Given the description of an element on the screen output the (x, y) to click on. 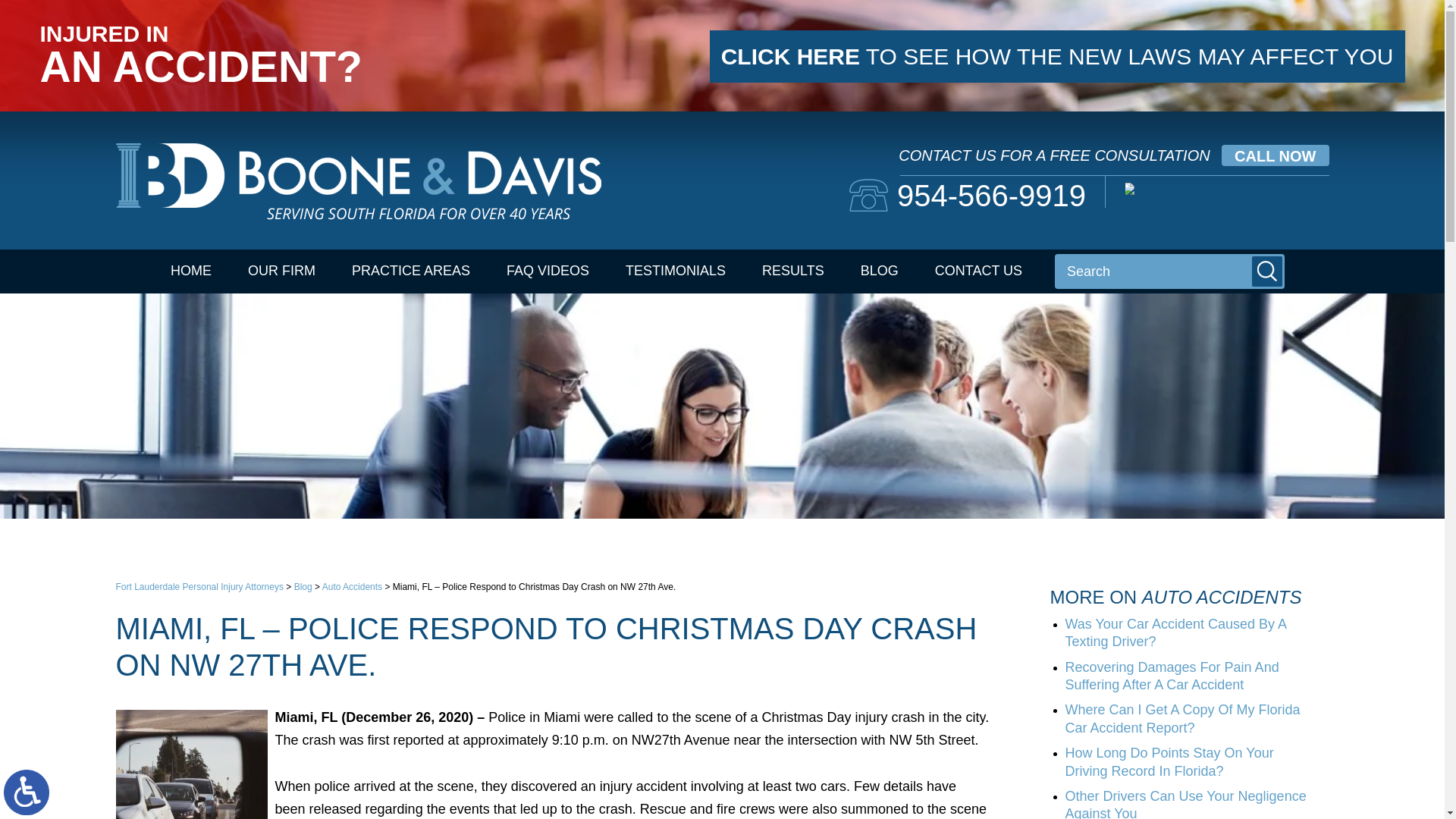
Switch to ADA Accessible Theme (26, 791)
CLICK HERE TO SEE HOW THE NEW LAWS MAY AFFECT YOU (1057, 56)
954-566-9919 (967, 195)
Submit (1267, 271)
PRACTICE AREAS (410, 271)
HOME (191, 271)
OUR FIRM (281, 271)
CALL NOW (1274, 155)
